Given the description of an element on the screen output the (x, y) to click on. 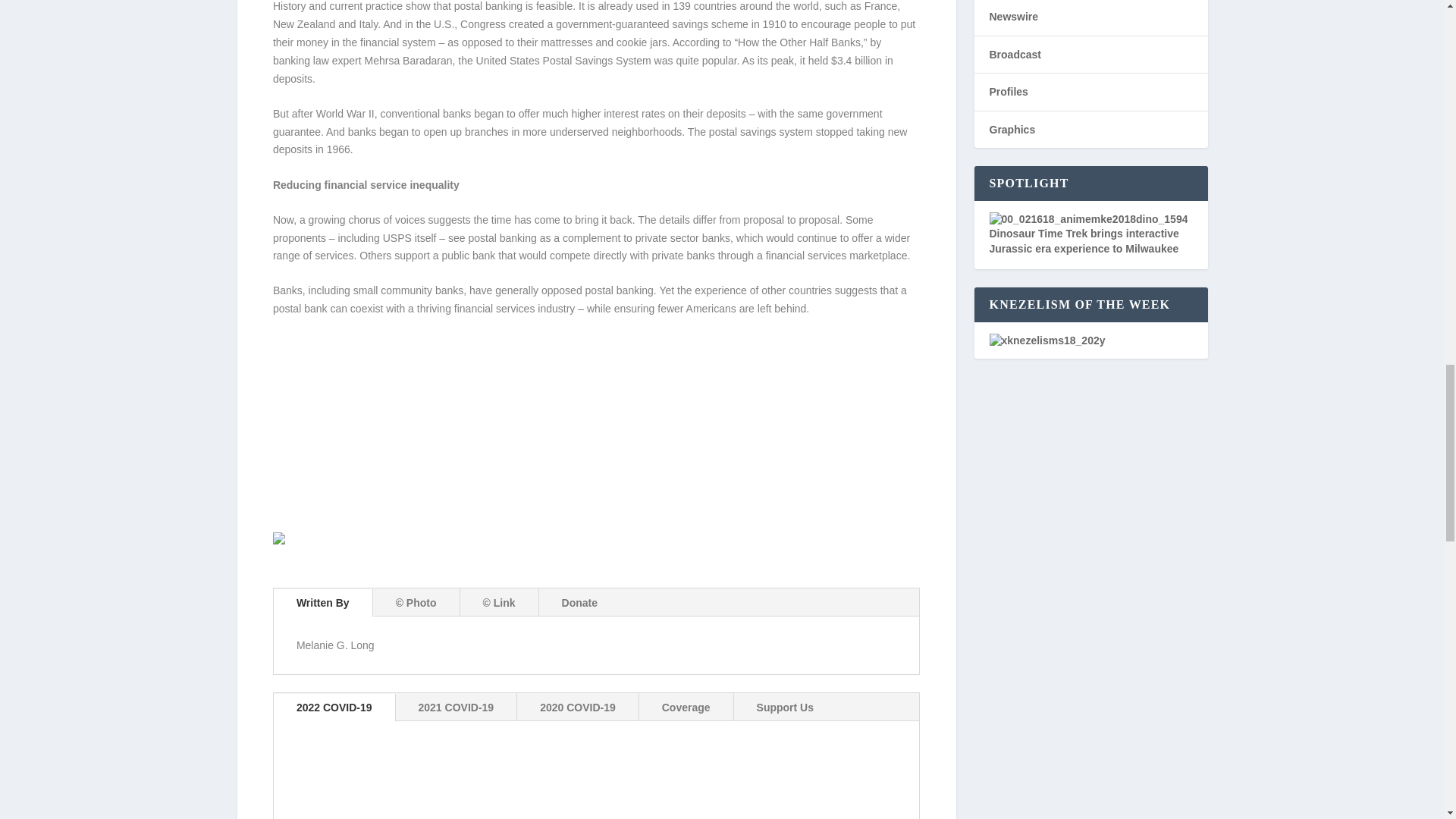
Written By (323, 603)
